Given the description of an element on the screen output the (x, y) to click on. 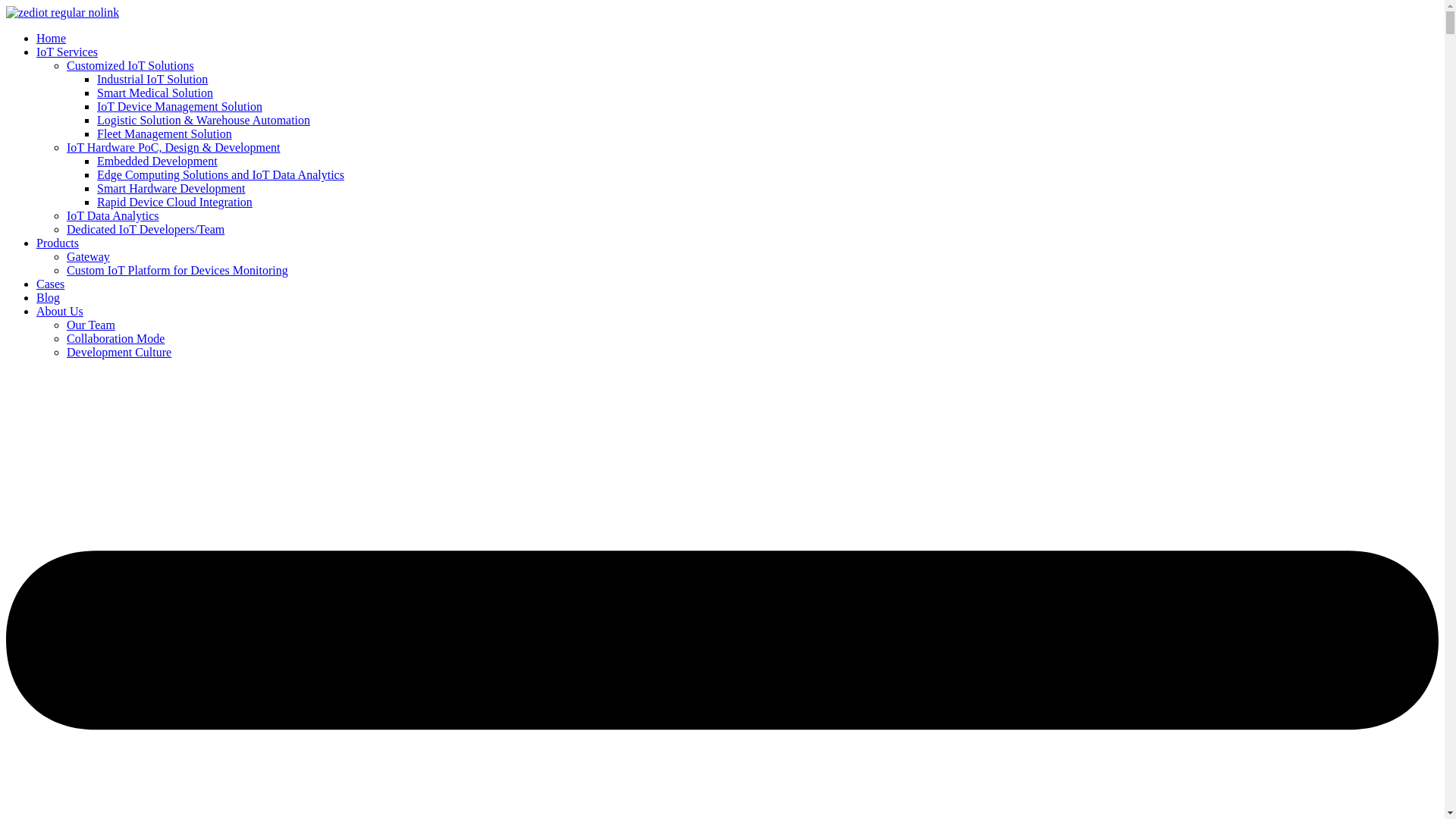
Gateway (88, 256)
Edge Computing Solutions and IoT Data Analytics (220, 174)
Development Culture (118, 351)
Embedded Development (156, 160)
IoT Services (66, 51)
Smart Medical Solution (154, 92)
Home (50, 38)
Fleet Management Solution (164, 133)
Customized IoT Solutions (129, 65)
Blog (47, 297)
Cases (50, 283)
IoT Device Management Solution (179, 106)
Industrial IoT Solution (152, 78)
About Us (59, 310)
Custom IoT Platform for Devices Monitoring (177, 269)
